Given the description of an element on the screen output the (x, y) to click on. 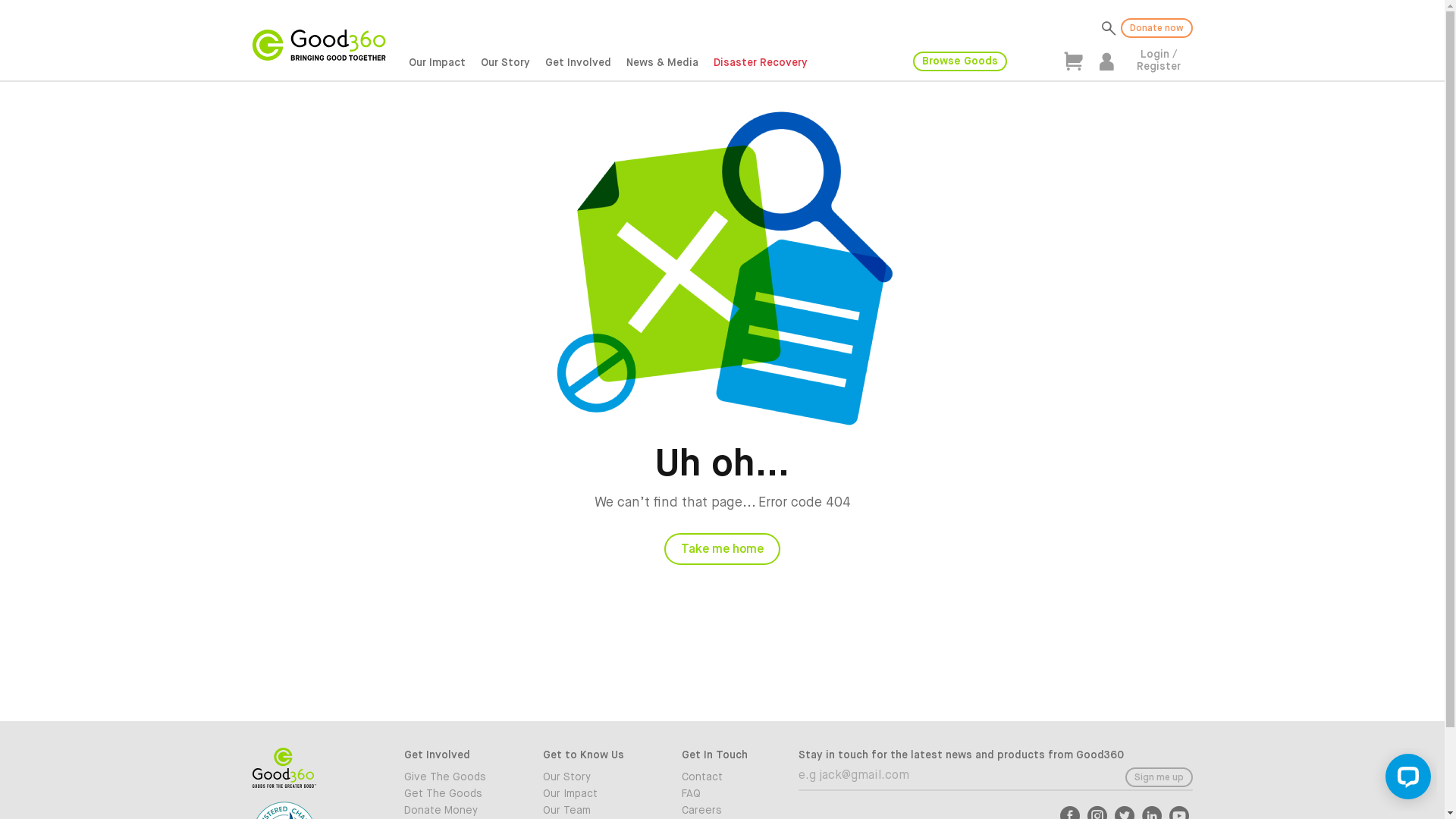
Get The Goods Element type: text (461, 793)
Give The Goods Element type: text (461, 776)
Sign me up Element type: text (1158, 777)
Donate now Element type: text (1156, 27)
News & Media Element type: text (662, 62)
Browse Goods Element type: text (960, 61)
Our Impact Element type: text (600, 793)
Our Story Element type: text (600, 776)
Take me home Element type: text (722, 548)
FAQ Element type: text (739, 793)
Disaster Recovery Element type: text (760, 62)
LiveChat chat widget Element type: hover (1405, 779)
Contact Element type: text (739, 776)
Get Involved Element type: text (577, 62)
Our Story Element type: text (505, 62)
Login /
Register Element type: text (1157, 60)
Our Impact Element type: text (437, 62)
